Given the description of an element on the screen output the (x, y) to click on. 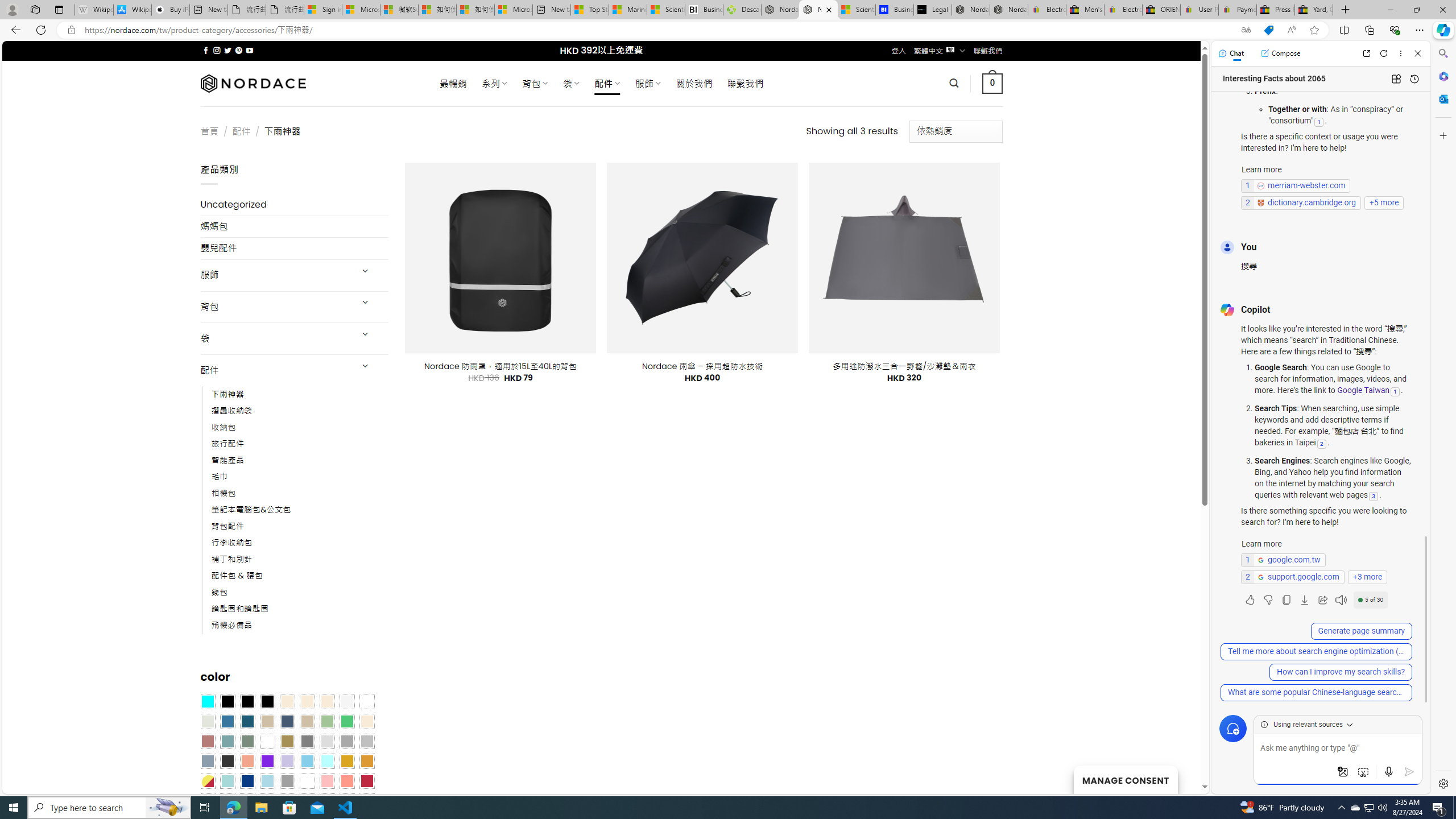
Marine life - MSN (628, 9)
Minimize Search pane (1442, 53)
